Given the description of an element on the screen output the (x, y) to click on. 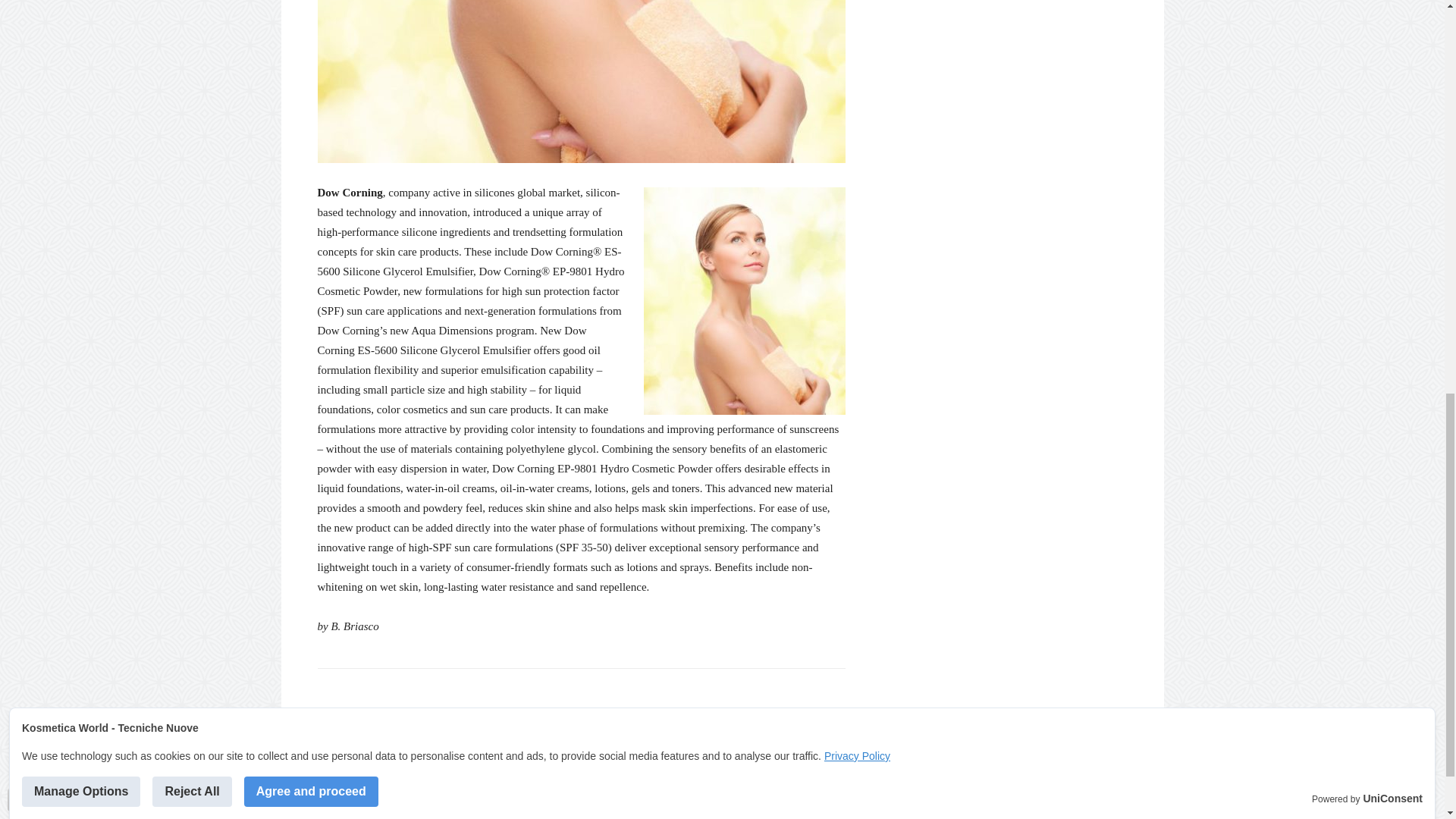
beautiful woman in towel (580, 81)
